Given the description of an element on the screen output the (x, y) to click on. 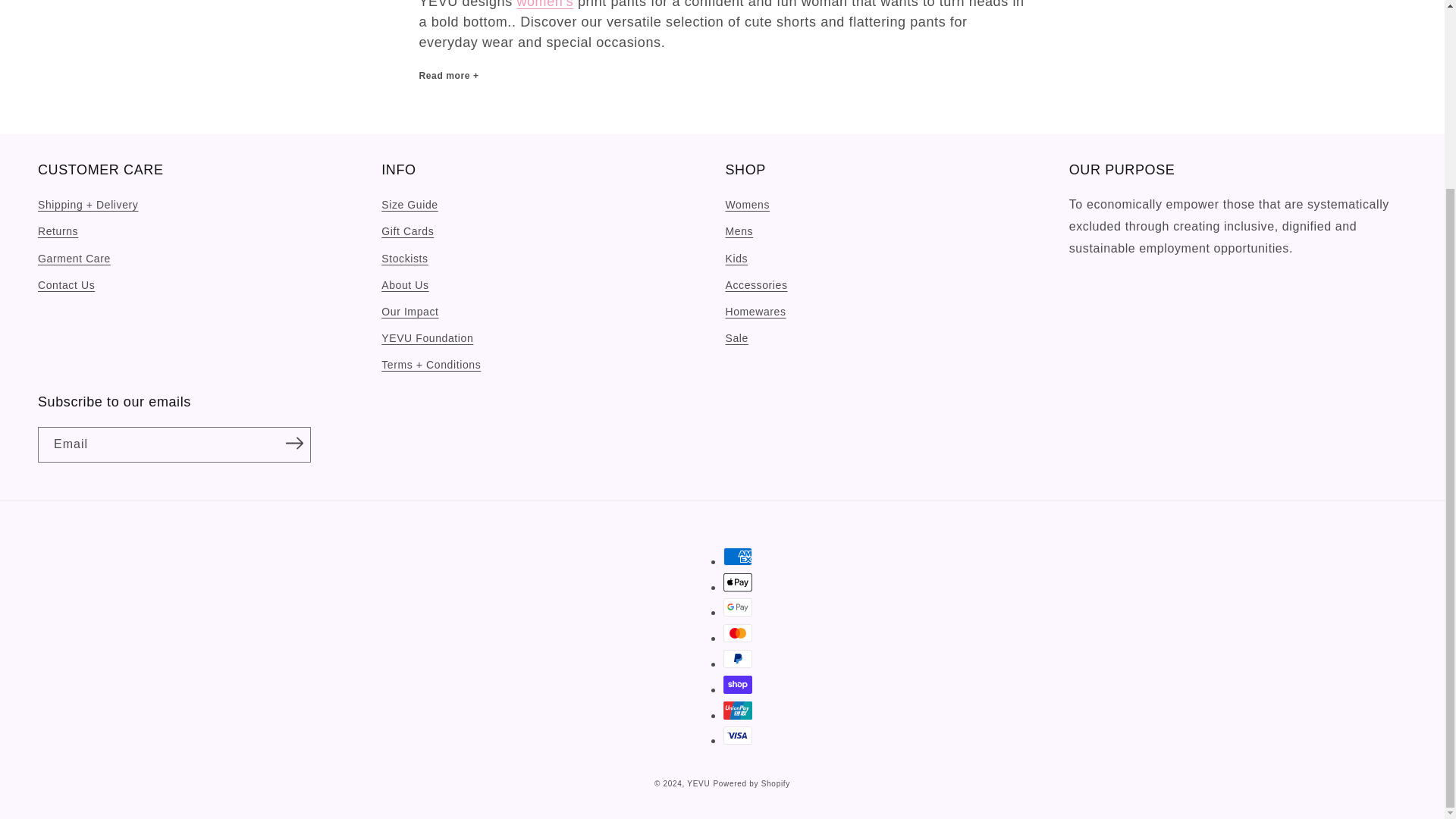
Visa (737, 735)
Shop Pay (737, 684)
Google Pay (737, 607)
Mastercard (737, 633)
PayPal (737, 659)
Apple Pay (737, 582)
Union Pay (737, 710)
American Express (737, 556)
